Given the description of an element on the screen output the (x, y) to click on. 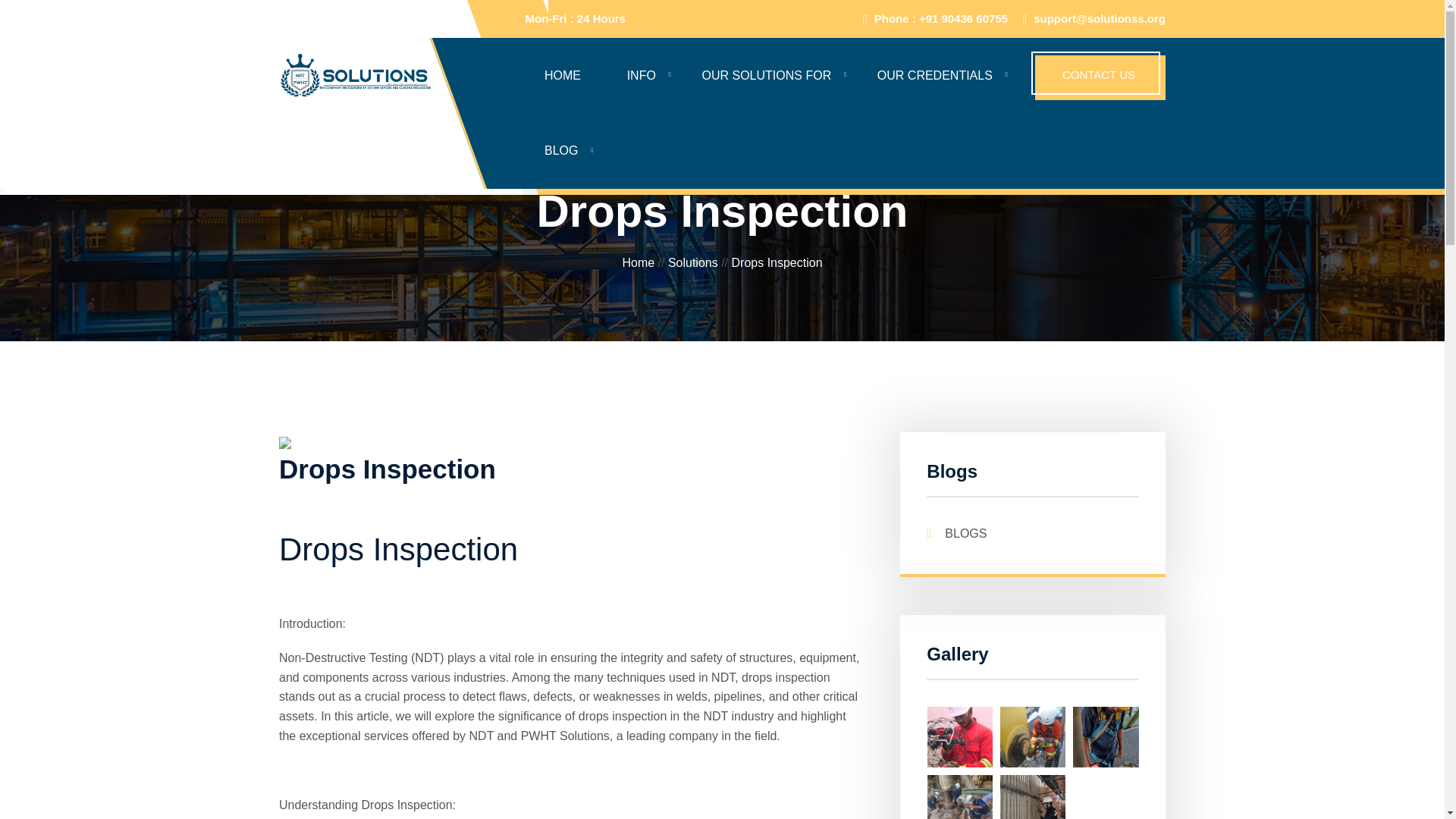
Image 1 Title will come here (959, 803)
OUR SOLUTIONS FOR (767, 75)
Image 1 Title will come here (959, 735)
Image 1 Title will come here (1032, 735)
CONTACT US (1100, 77)
HOME (562, 75)
INFO (641, 75)
Image 1 Title will come here (1032, 803)
Image 1 Title will come here (1105, 735)
